Given the description of an element on the screen output the (x, y) to click on. 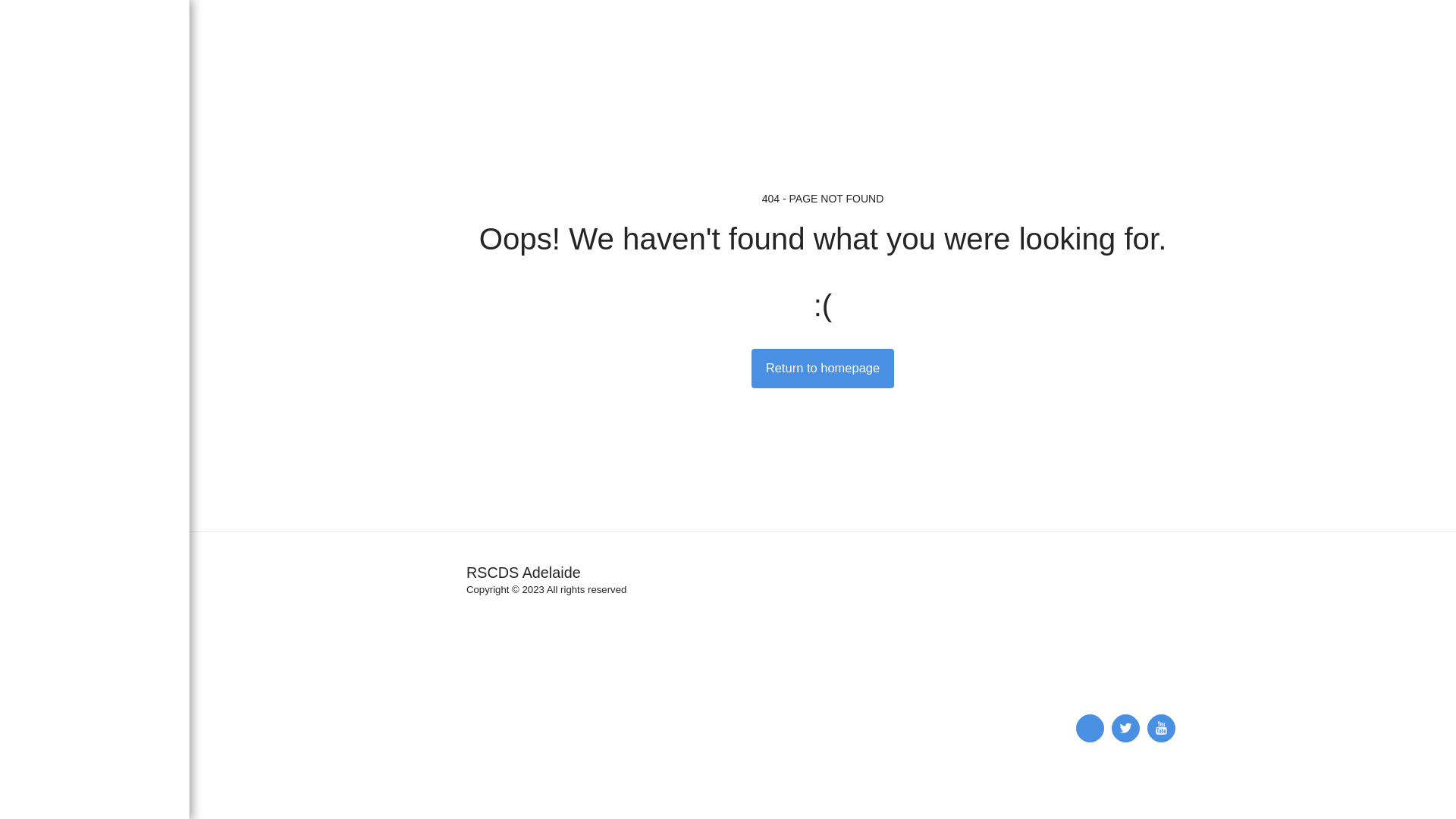
Return to homepage Element type: text (822, 368)
  Element type: text (1090, 728)
  Element type: text (1125, 728)
  Element type: text (1161, 728)
